Given the description of an element on the screen output the (x, y) to click on. 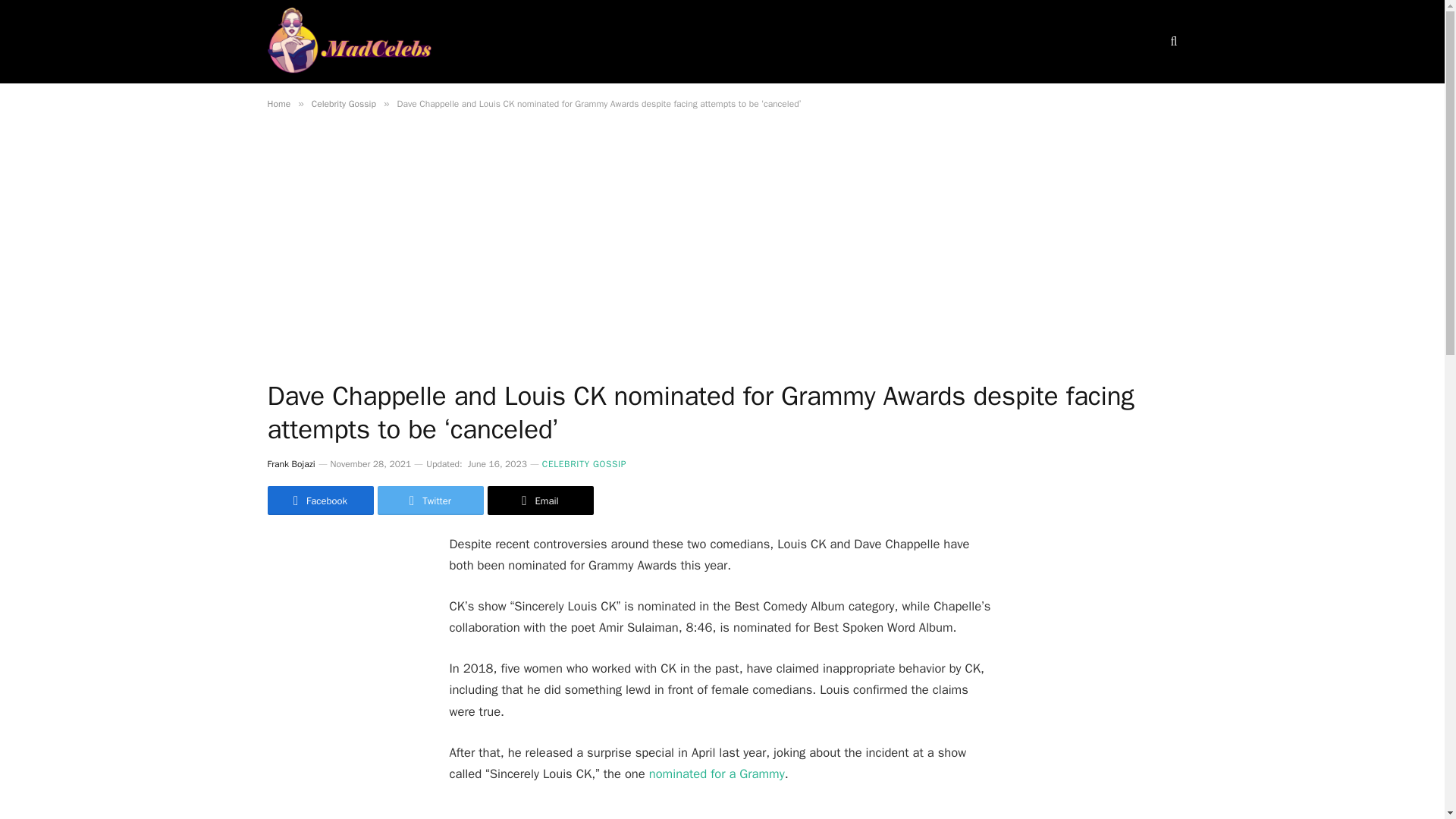
Share via Email (539, 500)
Celebrity Gossip (343, 103)
Home (277, 103)
Mad Celebs (348, 41)
Frank Bojazi (290, 463)
CELEBRITY GOSSIP (583, 463)
nominated for a Grammy (716, 773)
Share on Facebook (319, 500)
Email (539, 500)
